Given the description of an element on the screen output the (x, y) to click on. 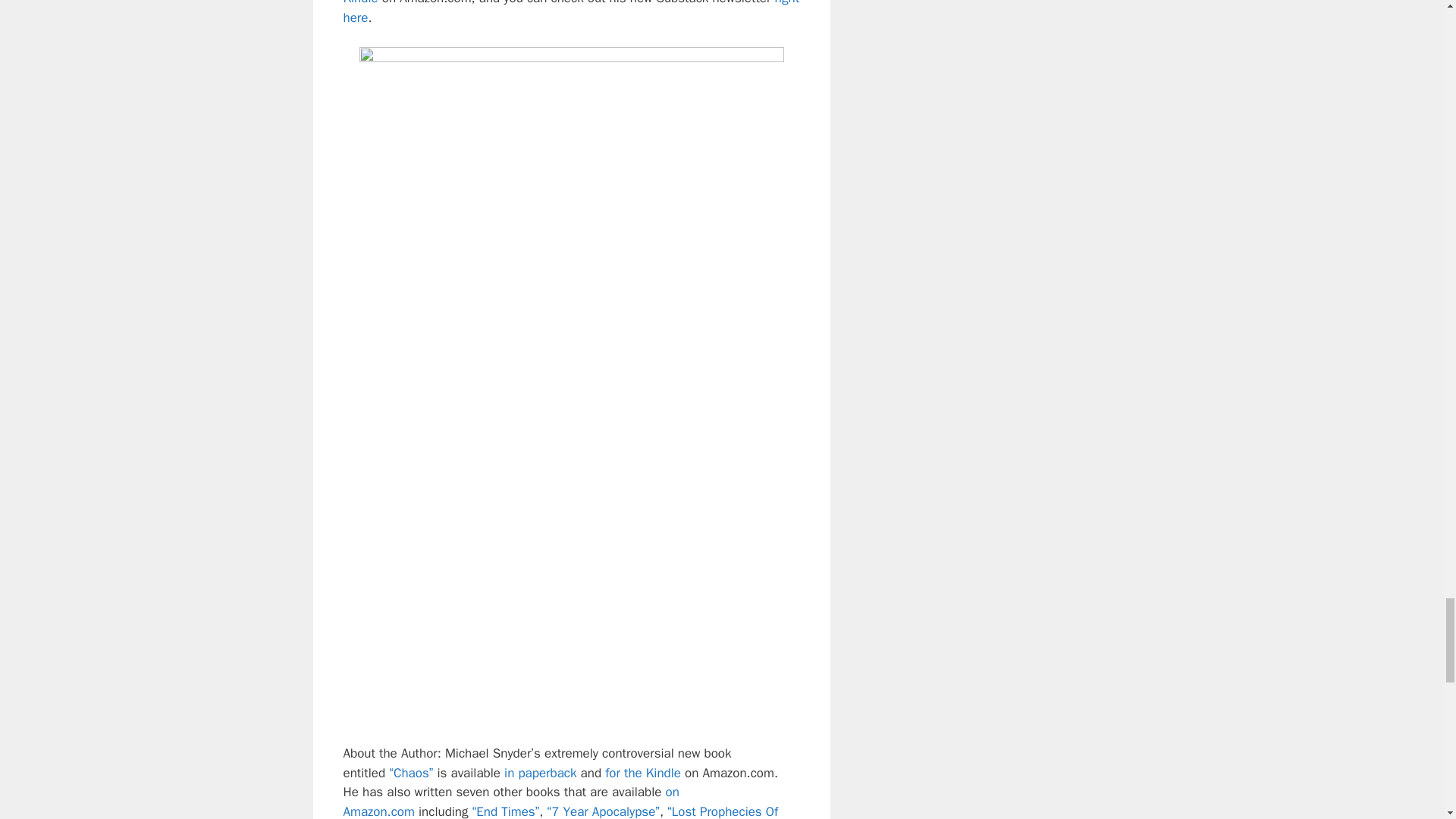
on Amazon.com (510, 801)
for the Kindle (548, 3)
right here (570, 12)
for the Kindle (643, 772)
in paperback (539, 772)
